Given the description of an element on the screen output the (x, y) to click on. 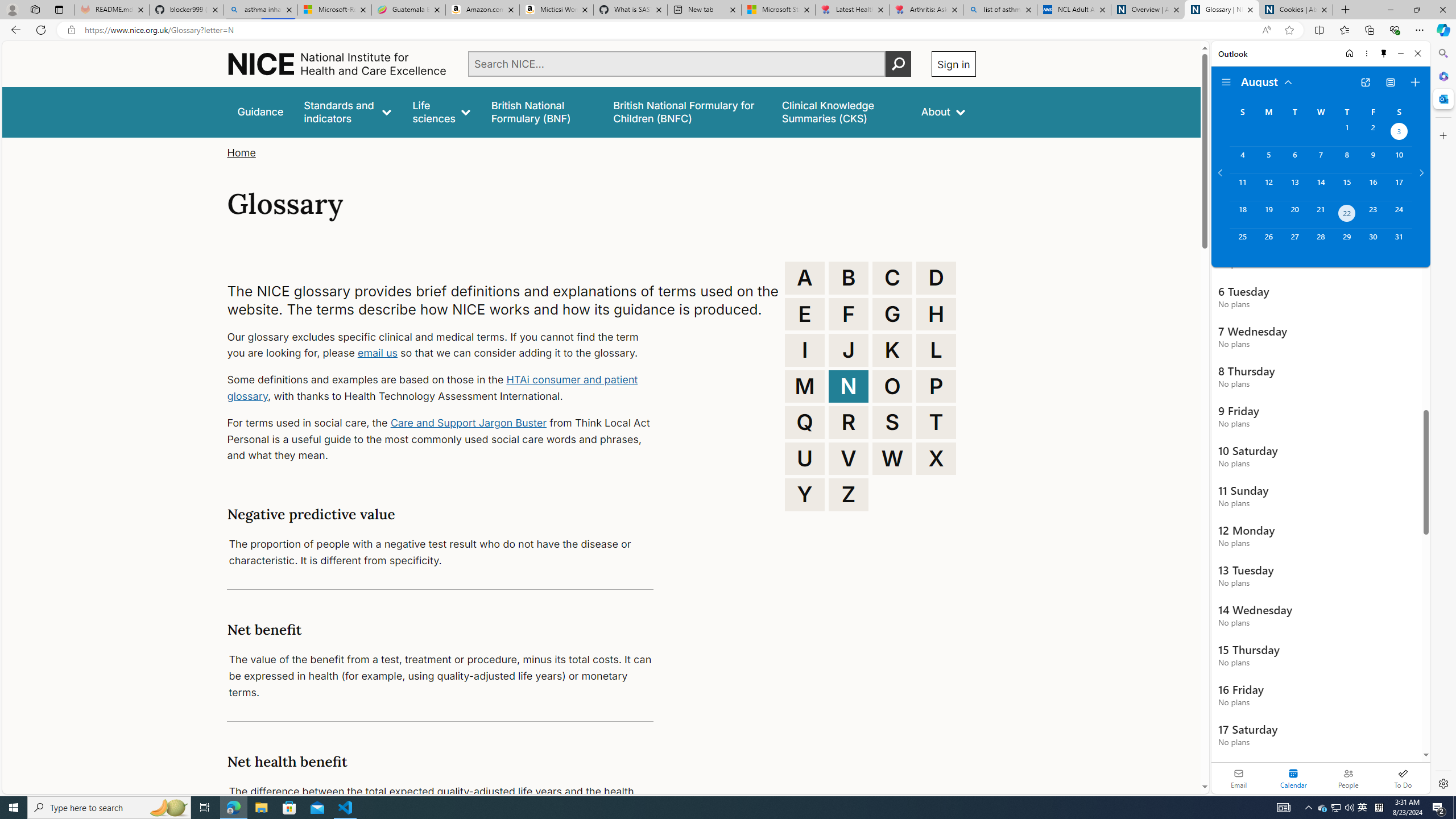
Read aloud this page (Ctrl+Shift+U) (1266, 29)
Create event (1414, 82)
Address and search bar (669, 29)
H (935, 313)
W (892, 458)
Collections (1369, 29)
Friday, August 16, 2024.  (1372, 186)
N (848, 385)
M (804, 385)
Folder navigation (1225, 82)
Tuesday, August 20, 2024.  (1294, 214)
Life sciences (440, 111)
Close Outlook pane (1442, 98)
